Given the description of an element on the screen output the (x, y) to click on. 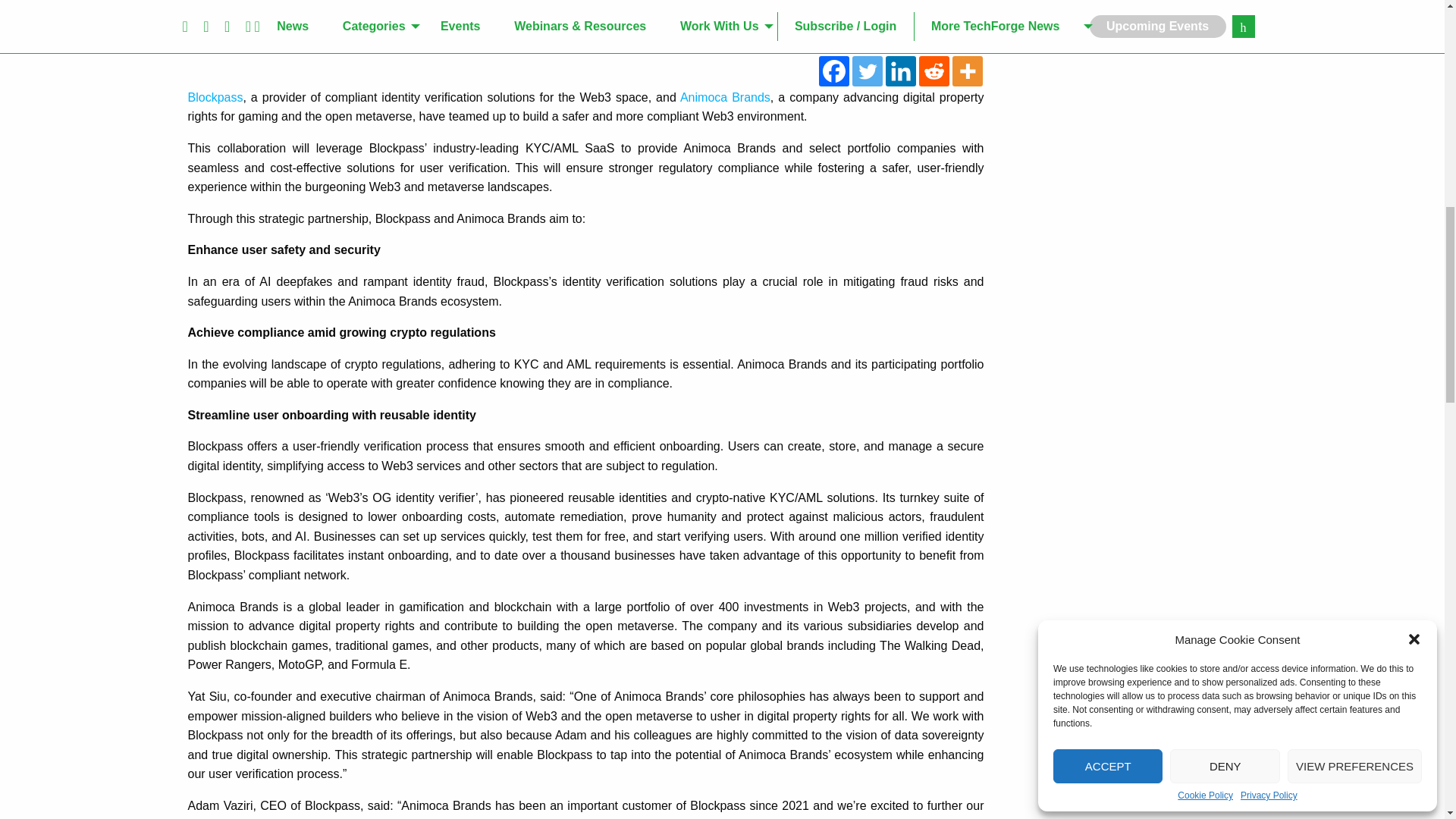
Facebook (833, 71)
